Given the description of an element on the screen output the (x, y) to click on. 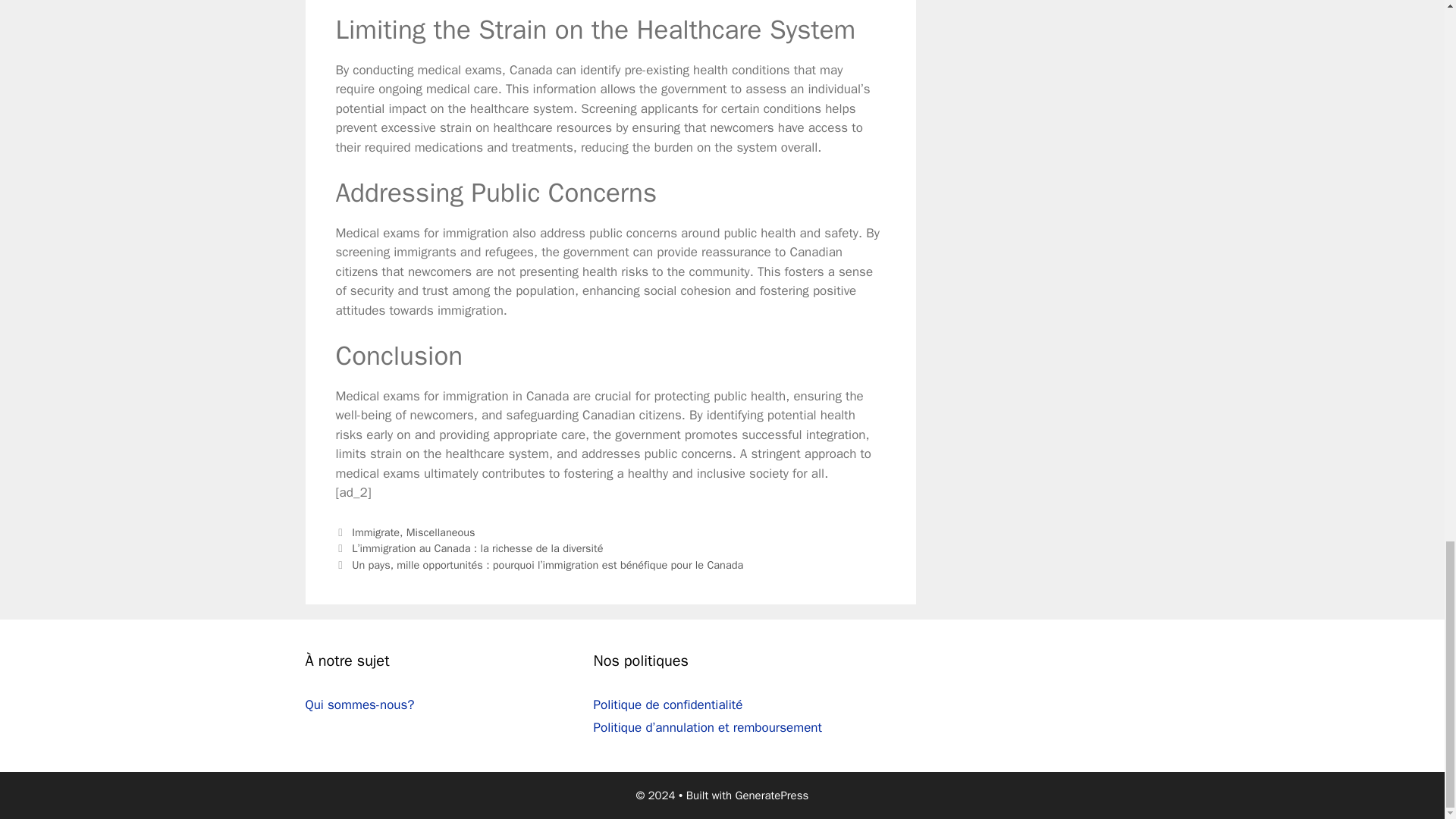
Qui sommes-nous? (358, 704)
Miscellaneous (441, 531)
Immigrate (375, 531)
